Given the description of an element on the screen output the (x, y) to click on. 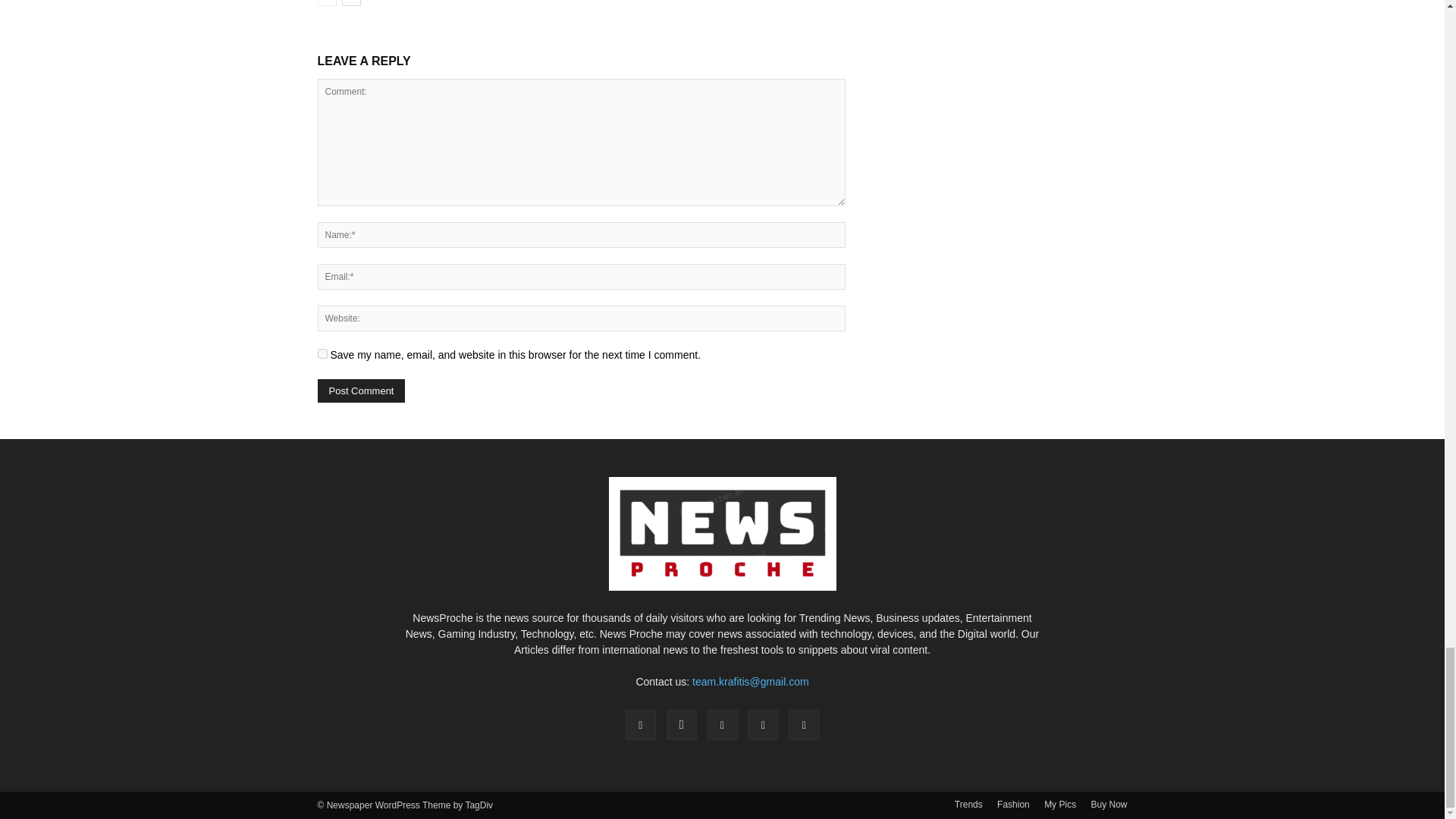
Post Comment (360, 390)
yes (321, 353)
